Given the description of an element on the screen output the (x, y) to click on. 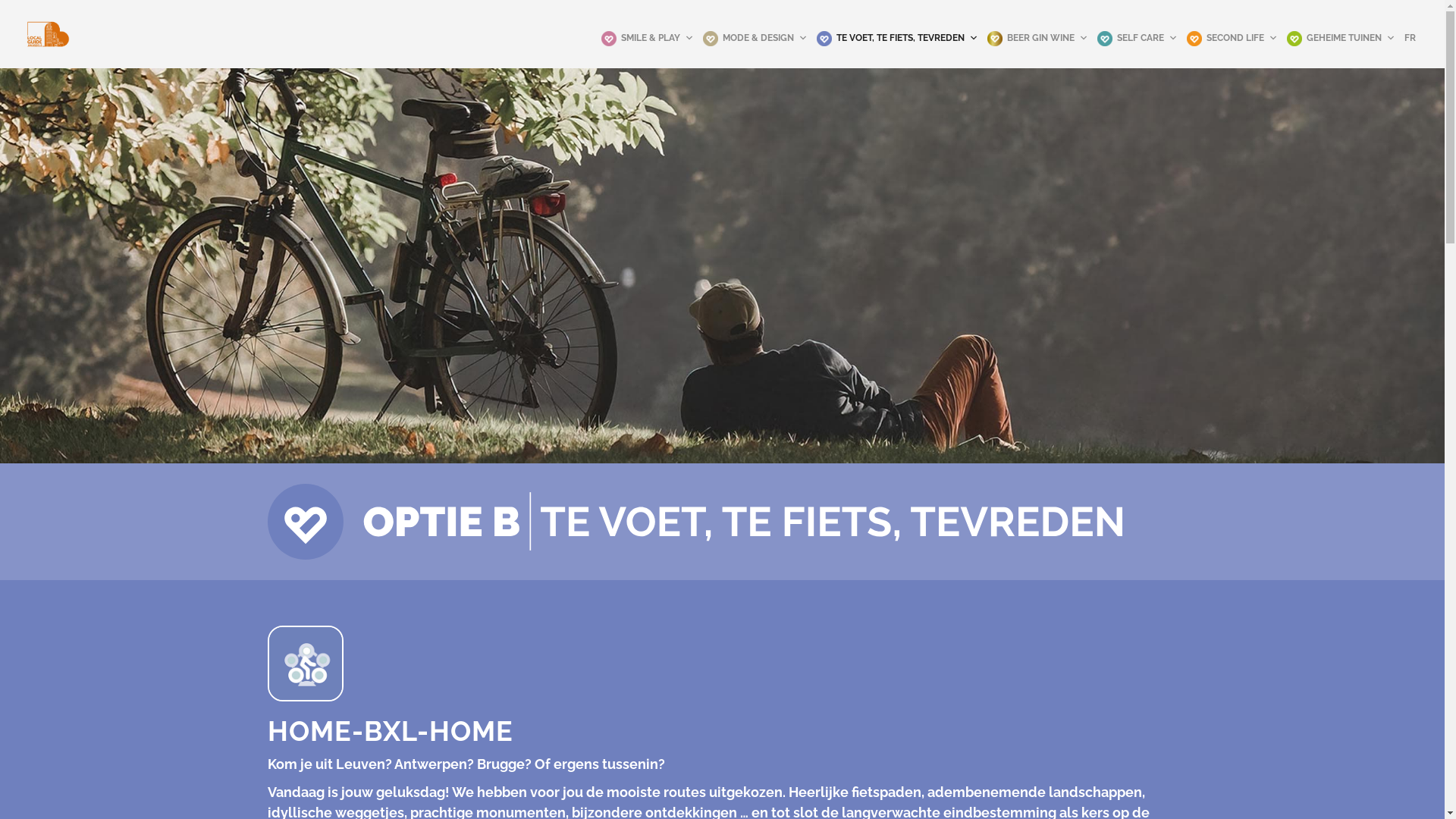
BEER GIN WINE Element type: text (1037, 37)
SELF CARE Element type: text (1137, 37)
SECOND LIFE Element type: text (1232, 37)
GEHEIME TUINEN Element type: text (1340, 37)
MODE & DESIGN Element type: text (755, 37)
TE VOET, TE FIETS, TEVREDEN Element type: text (897, 37)
SMILE & PLAY Element type: text (647, 37)
FR Element type: text (1409, 37)
ob5-home-bxl-home-header-1200x600 Element type: hover (722, 265)
